Given the description of an element on the screen output the (x, y) to click on. 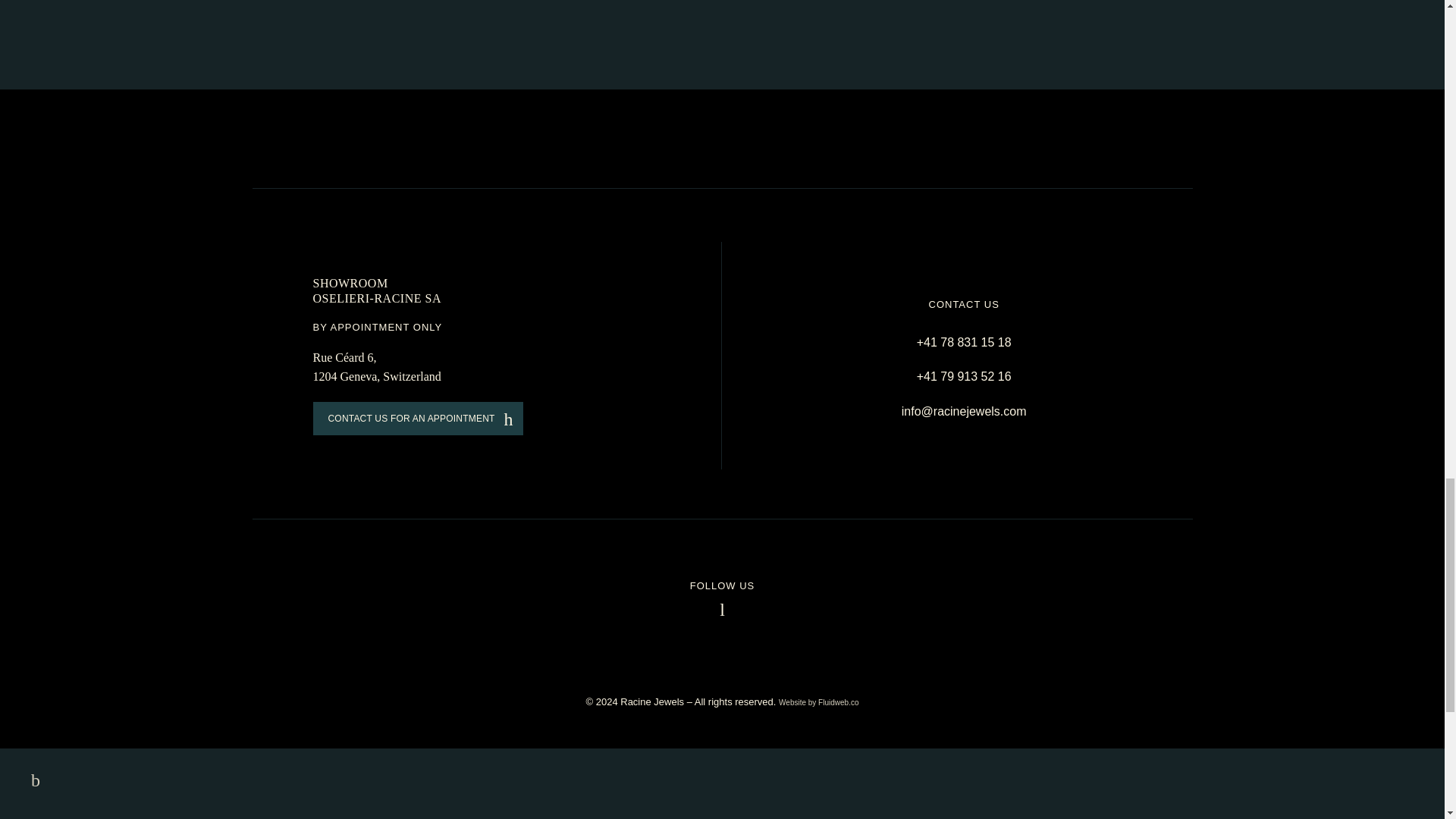
Close Menu (31, 779)
CONTACT US FOR AN APPOINTMENT (417, 418)
Website by Fluidweb.co (818, 702)
